Given the description of an element on the screen output the (x, y) to click on. 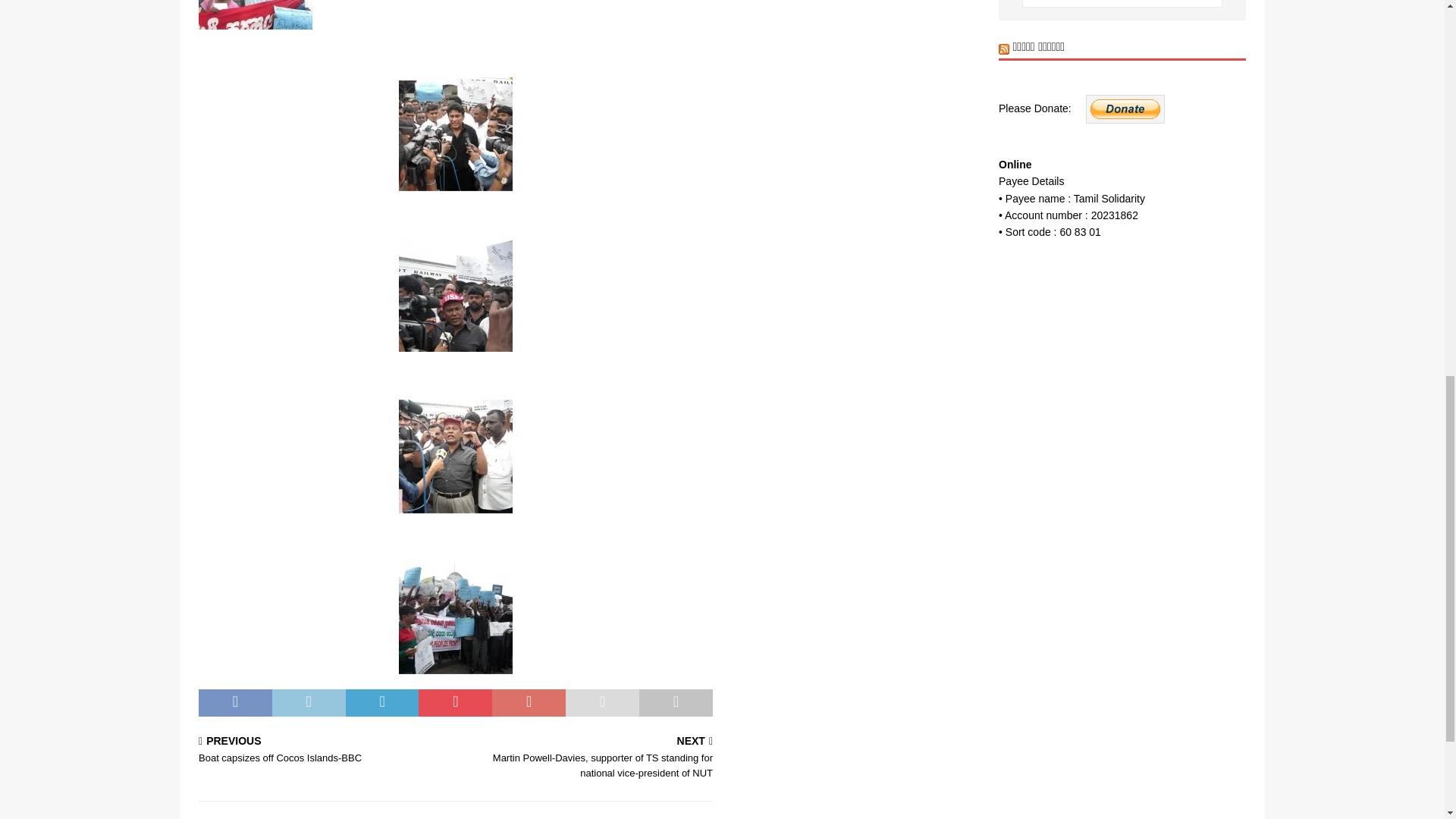
3p (455, 456)
9p (455, 617)
8p (255, 14)
1p (455, 133)
2p (455, 295)
